Given the description of an element on the screen output the (x, y) to click on. 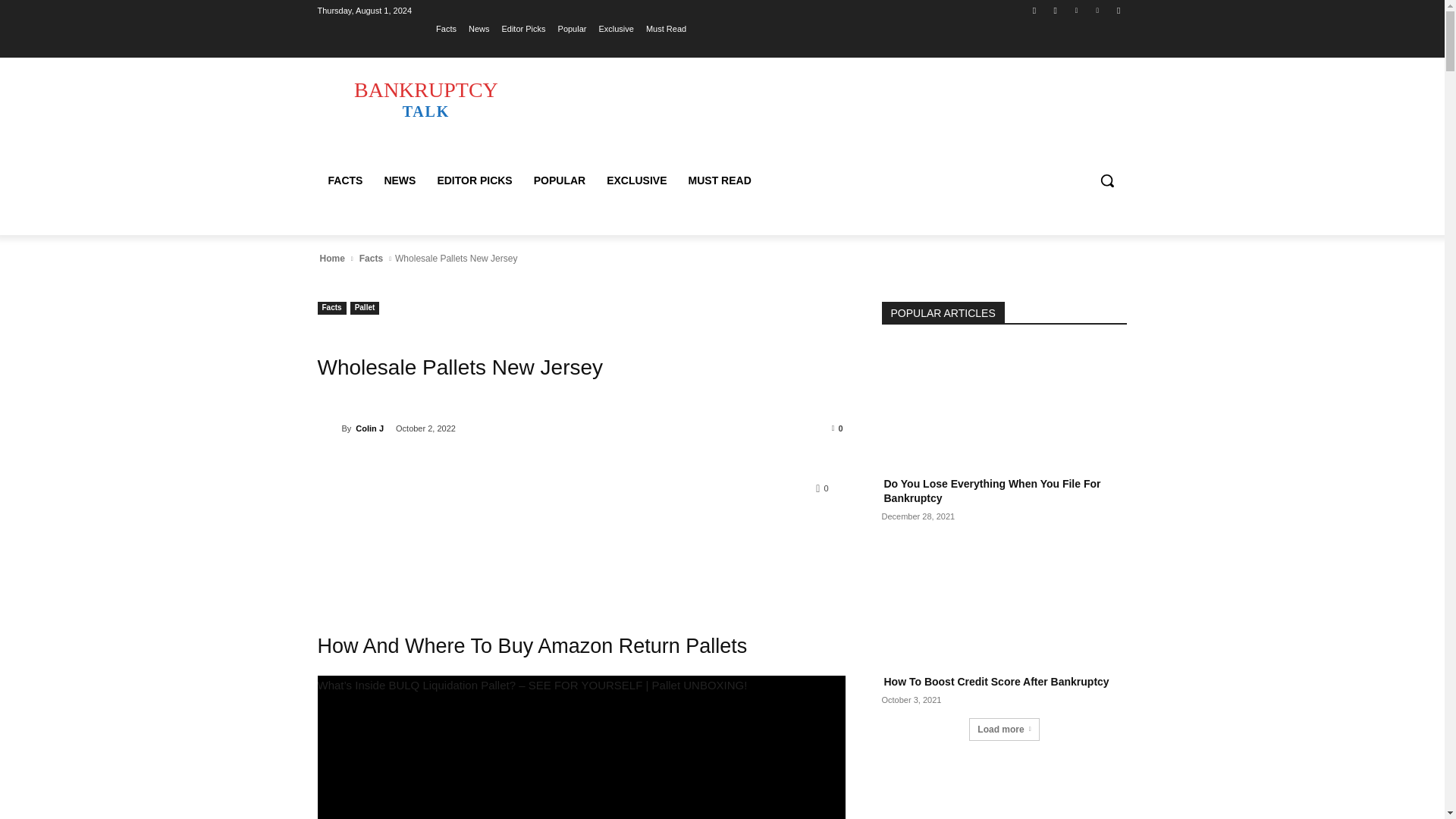
Colin J (328, 427)
POPULAR (558, 180)
Vimeo (1097, 9)
Facebook (1034, 9)
Exclusive (615, 28)
Pallet (365, 308)
MUST READ (719, 180)
Facts (331, 308)
Editor Picks (522, 28)
Facts (446, 28)
FACTS (344, 180)
Must Read (665, 28)
News (478, 28)
Instagram (1055, 9)
Popular (571, 28)
